Given the description of an element on the screen output the (x, y) to click on. 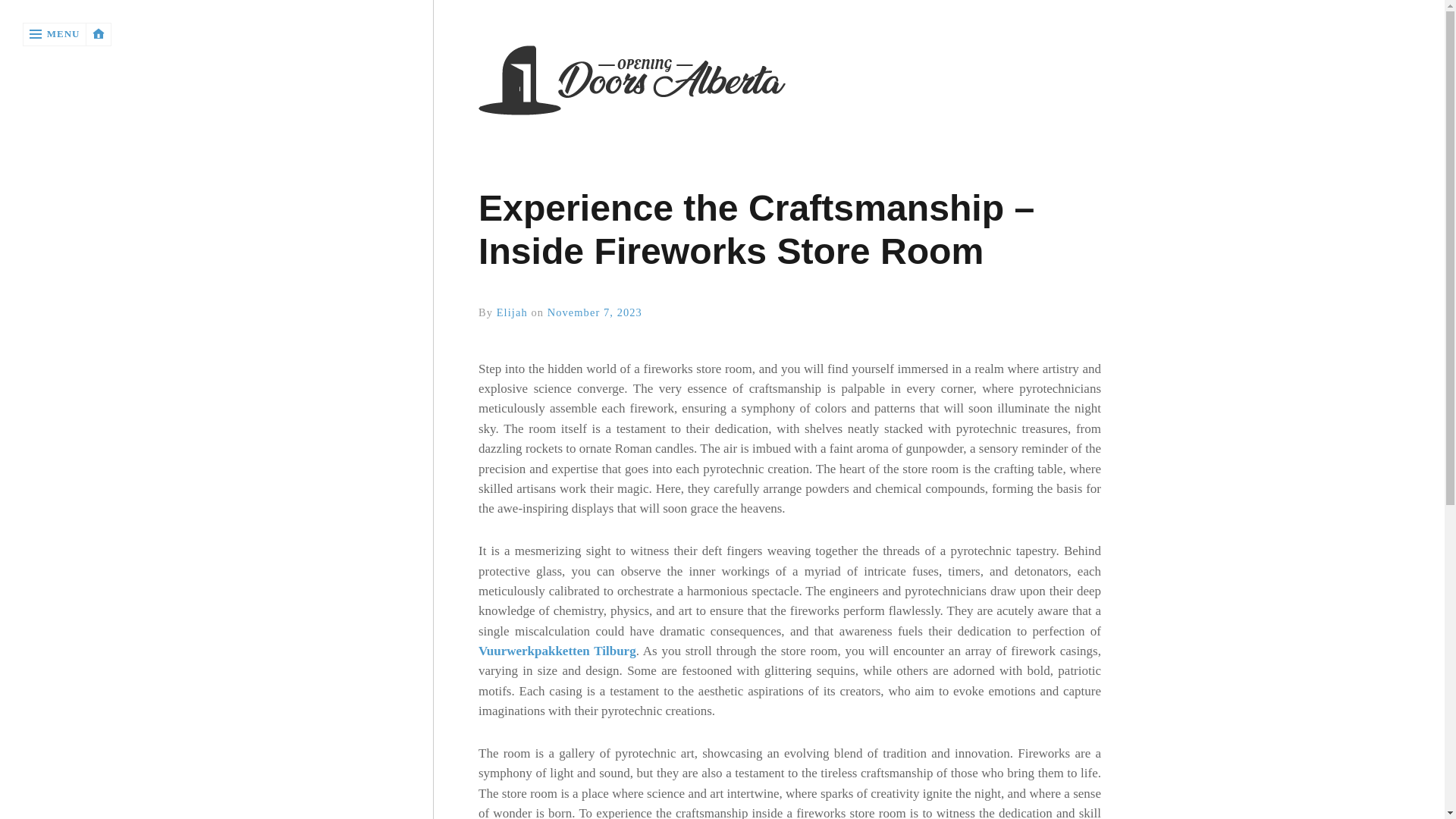
6:45 am (594, 312)
Home (789, 82)
Vuurwerkpakketten Tilburg (557, 650)
View all posts by Elijah (511, 312)
Elijah (511, 312)
MENU (55, 33)
November 7, 2023 (594, 312)
